Given the description of an element on the screen output the (x, y) to click on. 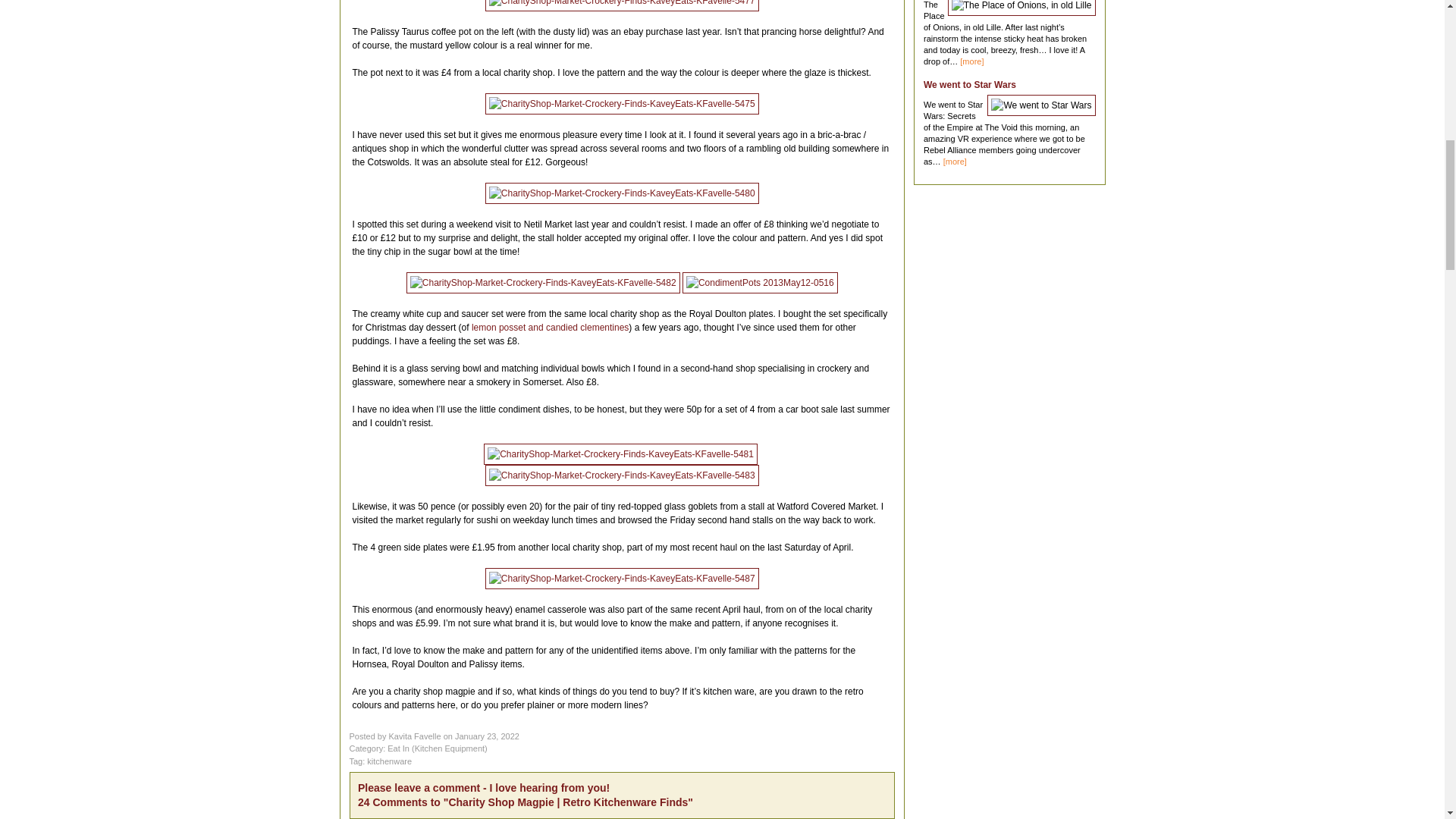
CondimentPots 2013May12-0516 (760, 281)
CharityShop-Market-Crockery-Finds-KaveyEats-KFavelle-5480 (621, 192)
CharityShop-Market-Crockery-Finds-KaveyEats-KFavelle-5477 (621, 5)
CharityShop-Market-Crockery-Finds-KaveyEats-KFavelle-5487 (621, 577)
lemon posset and candied clementines (549, 326)
CharityShop-Market-Crockery-Finds-KaveyEats-KFavelle-5483 (621, 474)
CharityShop-Market-Crockery-Finds-KaveyEats-KFavelle-5475 (621, 102)
January 23, 2022 (486, 735)
CharityShop-Market-Crockery-Finds-KaveyEats-KFavelle-5481 (620, 453)
lemon posset and candied clementines (549, 326)
